Given the description of an element on the screen output the (x, y) to click on. 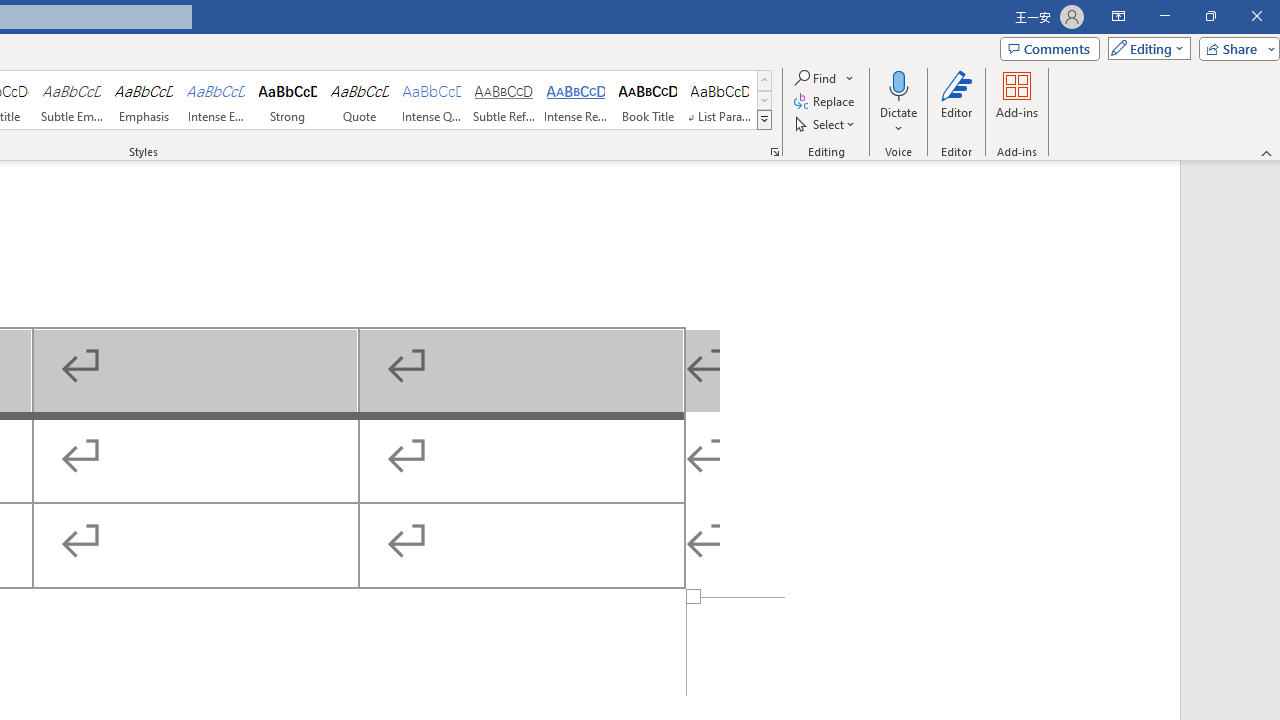
Intense Emphasis (216, 100)
Emphasis (143, 100)
